Given the description of an element on the screen output the (x, y) to click on. 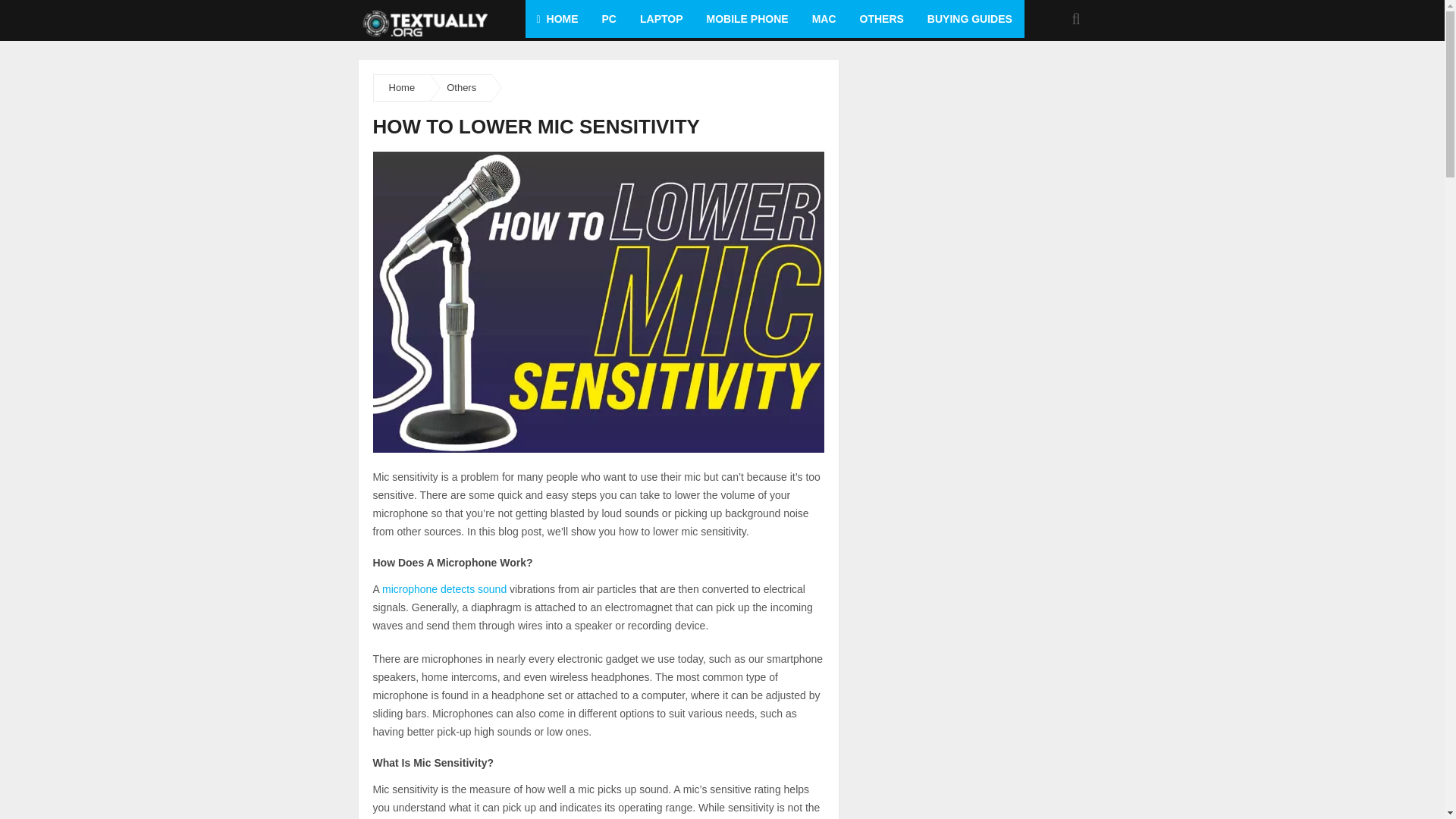
LAPTOP (661, 18)
HOME (556, 18)
OTHERS (881, 18)
MAC (823, 18)
MOBILE PHONE (746, 18)
Home (401, 87)
Others (461, 87)
BUYING GUIDES (969, 18)
microphone detects sound (443, 589)
PC (609, 18)
